Given the description of an element on the screen output the (x, y) to click on. 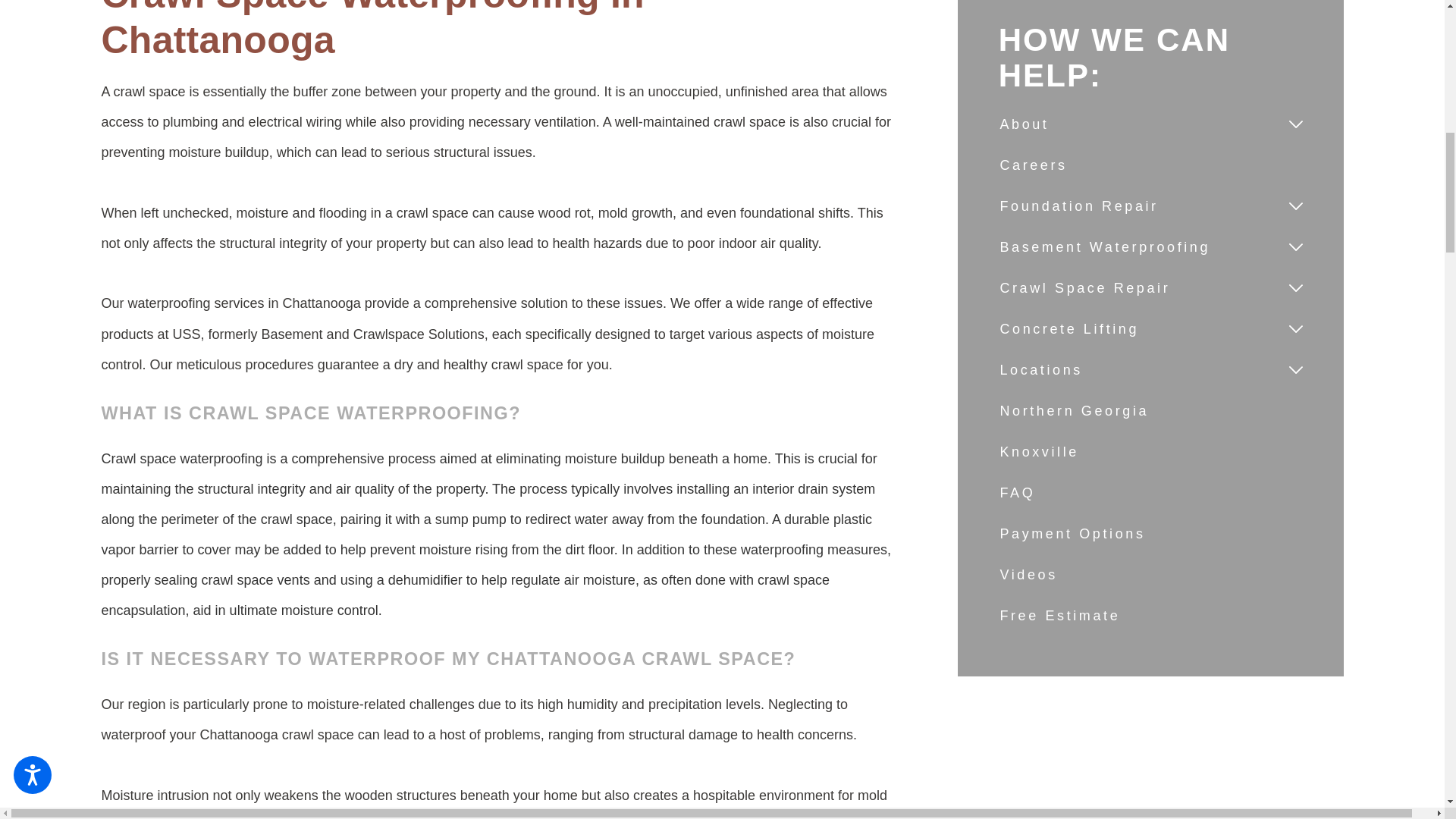
Open child menu of Basement Waterproofing  (1295, 246)
Open child menu of Concrete Lifting  (1295, 328)
Open child menu of Crawl Space Repair  (1295, 287)
Open child menu of Foundation Repair  (1295, 205)
Open child menu of Locations  (1295, 369)
Open child menu of About (1295, 124)
